Given the description of an element on the screen output the (x, y) to click on. 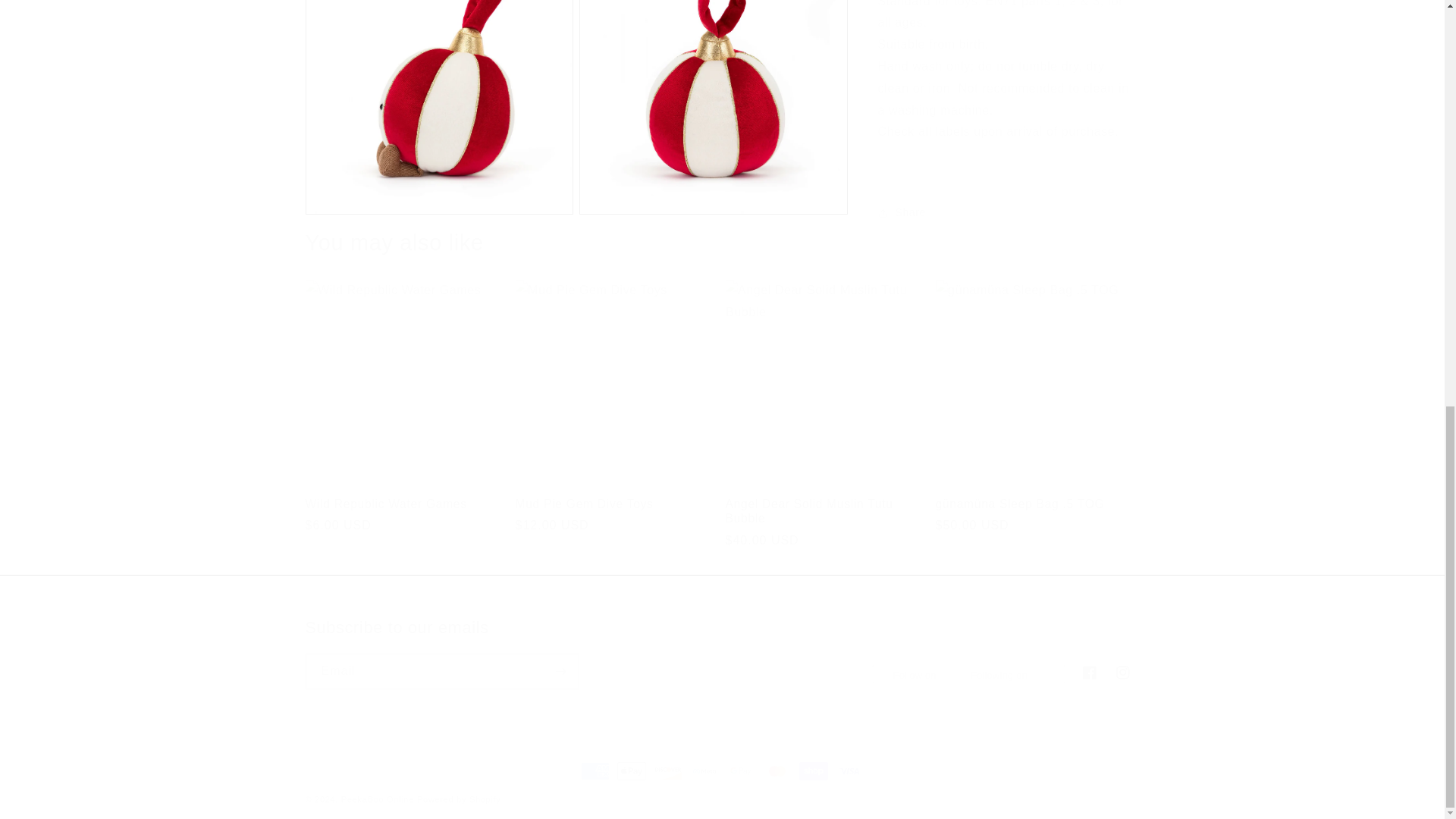
Open media 3 in modal (713, 56)
Open media 2 in modal (438, 56)
